Given the description of an element on the screen output the (x, y) to click on. 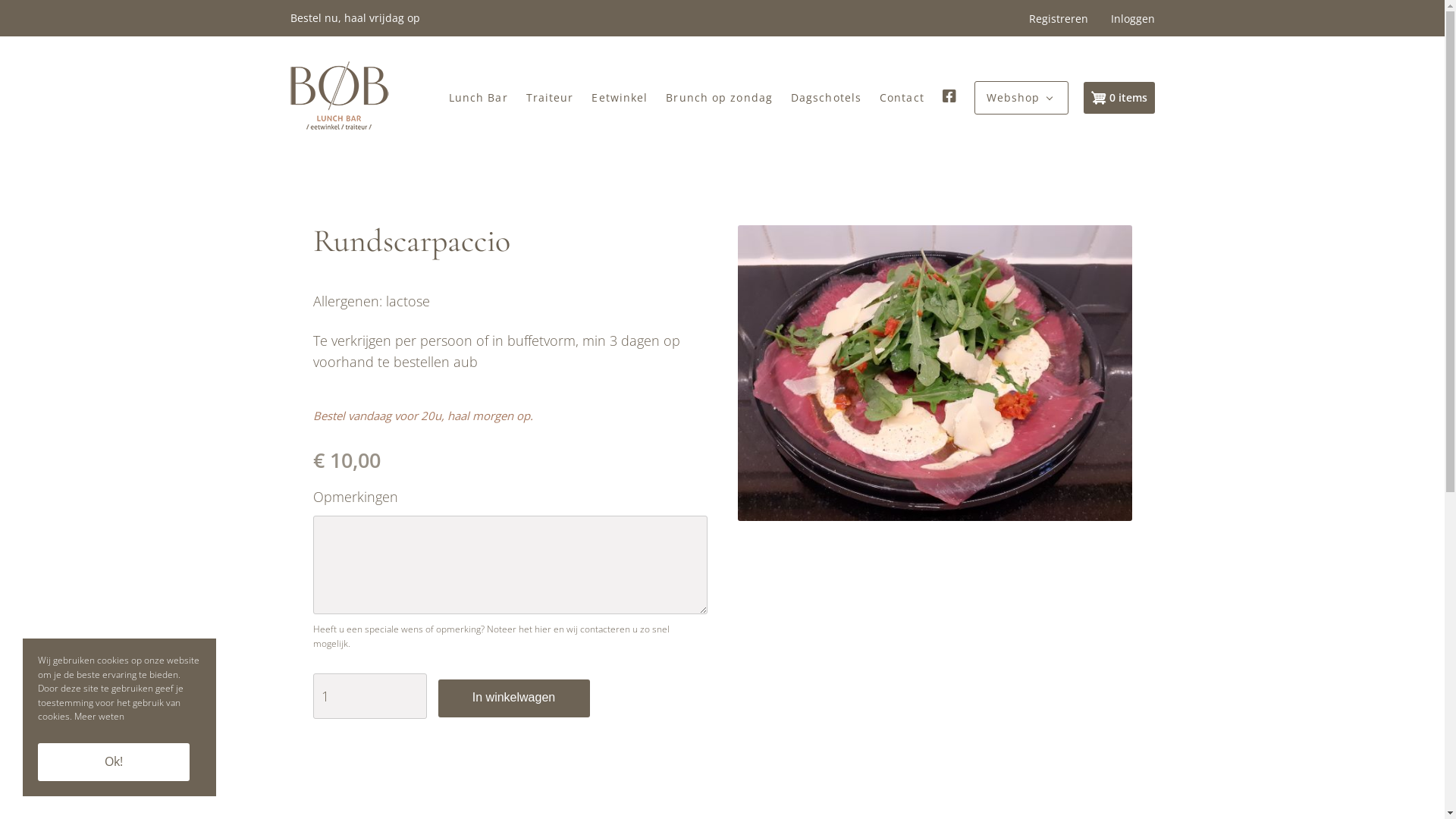
Dagschotels Element type: text (825, 98)
Contact Element type: text (901, 98)
Brunch op zondag Element type: text (718, 98)
In winkelwagen Element type: text (513, 698)
Ok! Element type: text (113, 762)
Facebook Element type: text (949, 95)
Traiteur Element type: text (550, 98)
Registreren Element type: text (1057, 18)
Lunch Bar Element type: text (478, 98)
Inloggen Element type: text (1132, 18)
Eetwinkel Element type: text (619, 98)
0 items Element type: text (1118, 97)
Meer weten Element type: text (99, 716)
Webshop Element type: text (1013, 97)
Overslaan en naar de inhoud gaan Element type: text (0, 0)
